Given the description of an element on the screen output the (x, y) to click on. 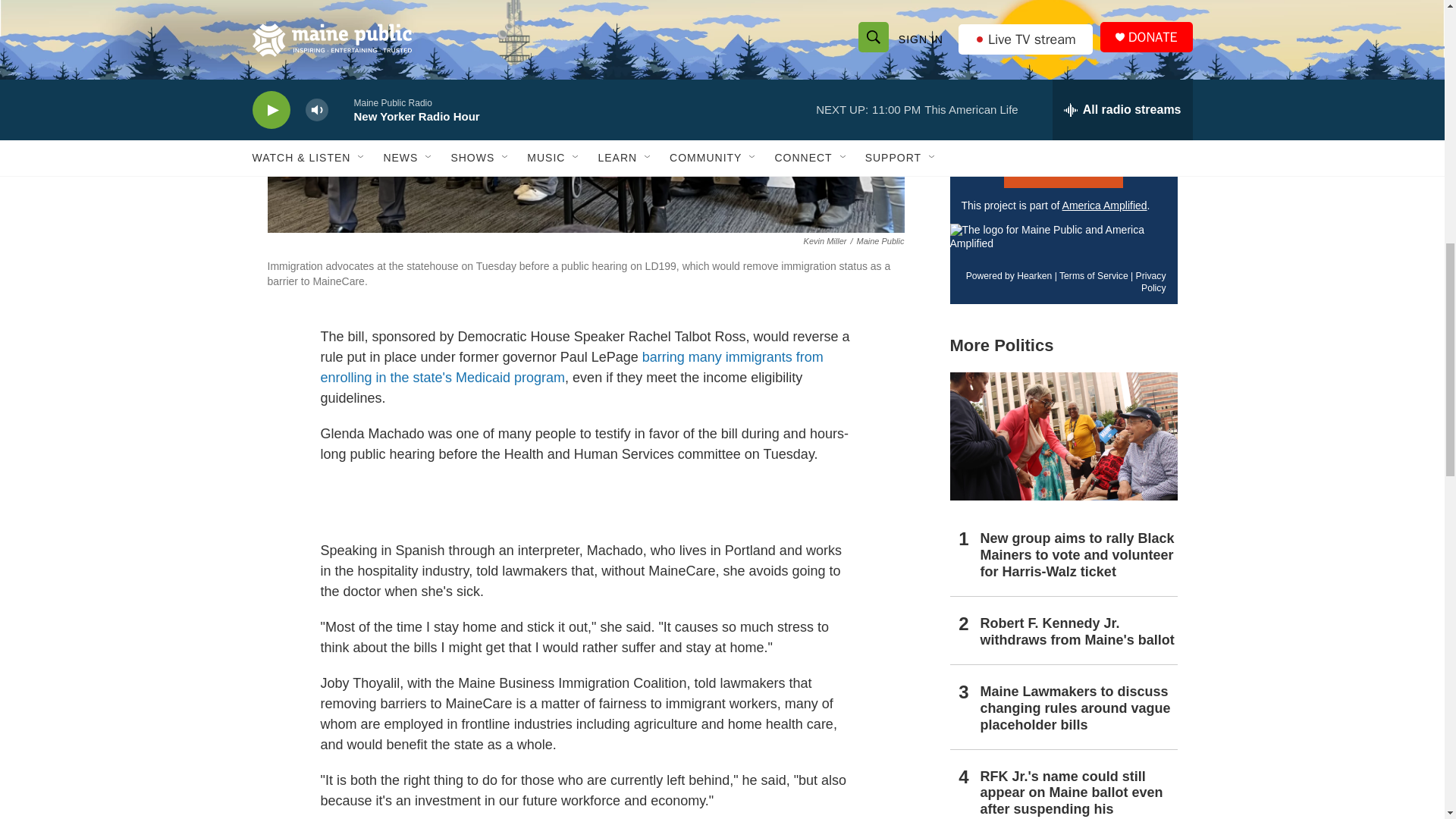
on (965, 83)
on (965, 125)
on (965, 104)
on (965, 49)
